Given the description of an element on the screen output the (x, y) to click on. 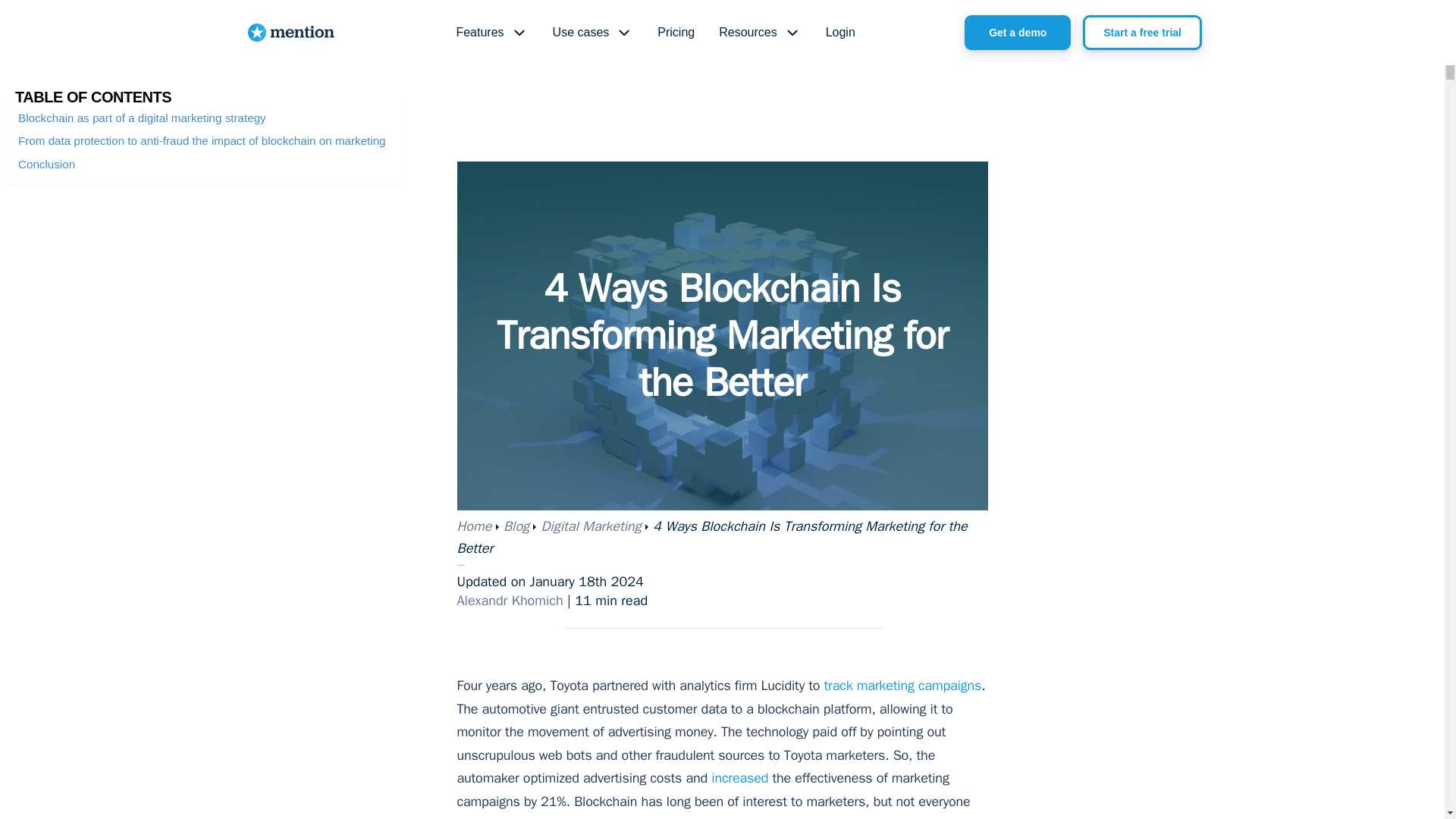
Conclusion (46, 164)
Blockchain as part of a digital marketing strategy (141, 117)
Pricing (675, 33)
